Given the description of an element on the screen output the (x, y) to click on. 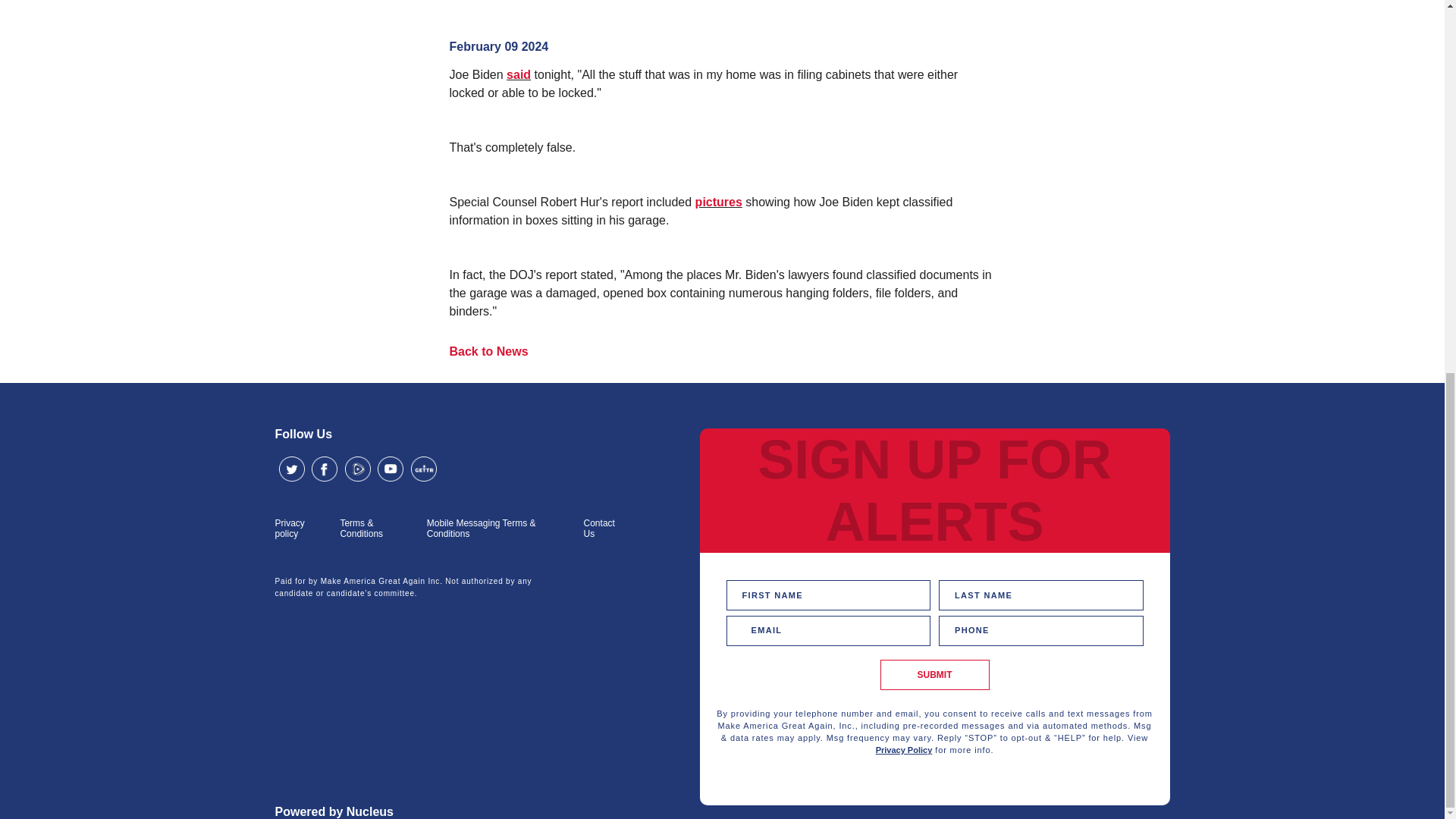
Back to News (487, 351)
said (518, 74)
Submit (933, 675)
pictures (718, 201)
Contact Us (604, 527)
Privacy Policy (904, 749)
Privacy policy (300, 527)
Submit (933, 675)
